Given the description of an element on the screen output the (x, y) to click on. 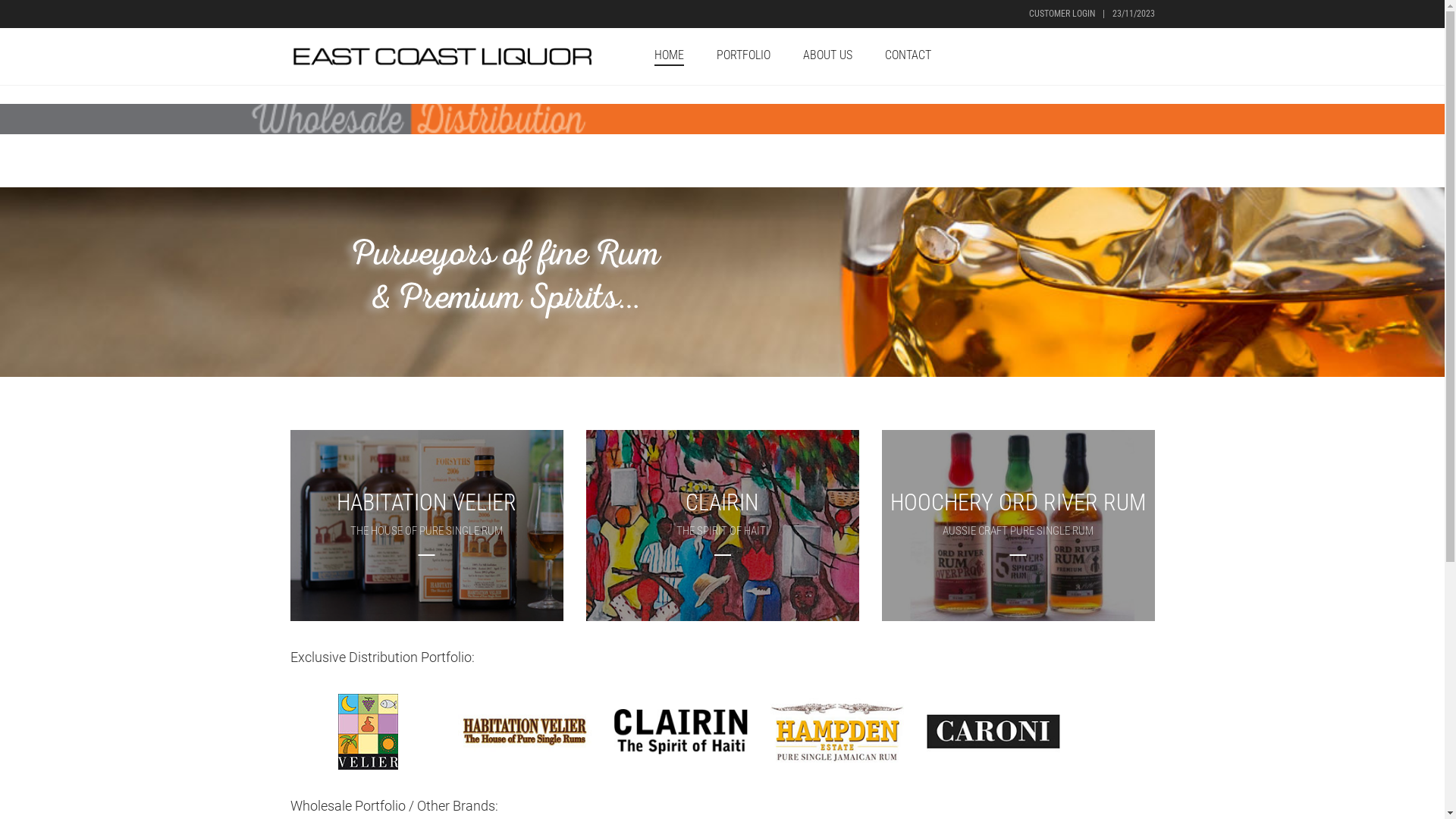
HOME Element type: text (668, 56)
ecl-banner-hv Element type: hover (425, 525)
ABOUT US Element type: text (826, 56)
HOOCHERY ORD RIVER RUM
AUSSIE CRAFT PURE SINGLE RUM Element type: text (1017, 525)
clairin-the-spirit-of-haiti-400x280 Element type: hover (721, 525)
CLAIRIN
THE SPIRIT OF HAITI Element type: text (721, 525)
hoocheryOrdRiverRum_400x280 Element type: hover (1017, 525)
HabitationVelier Element type: hover (524, 731)
carousel-Clairin-Rum Element type: hover (680, 731)
HampdenEstate Element type: hover (836, 731)
CUSTOMER LOGIN Element type: text (1061, 13)
CONTACT Element type: text (907, 56)
PORTFOLIO Element type: text (742, 56)
HABITATION VELIER
THE HOUSE OF PURE SINGLE RUM Element type: text (425, 525)
Caroni Element type: hover (993, 731)
velier Element type: hover (368, 731)
